Given the description of an element on the screen output the (x, y) to click on. 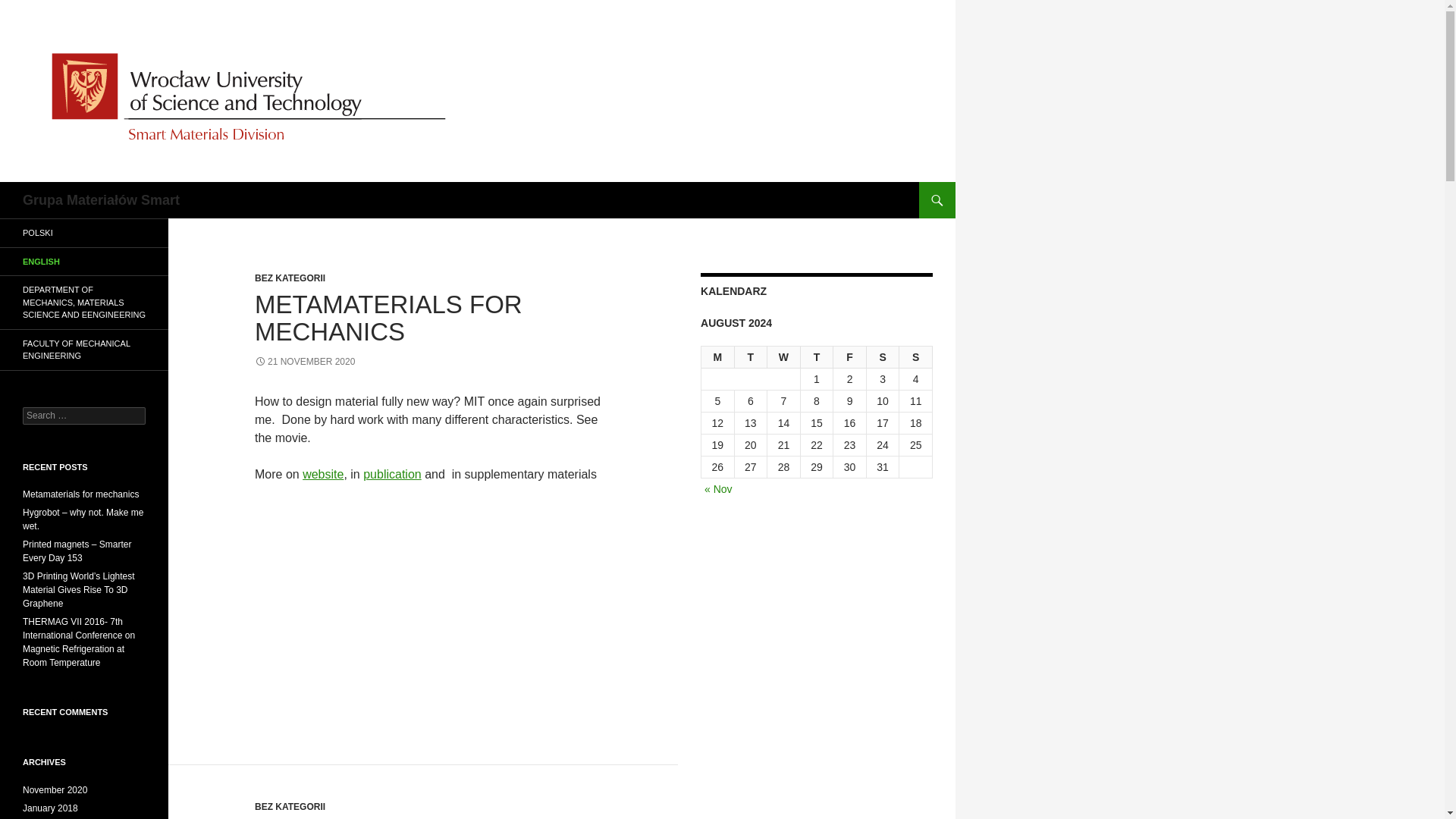
Wednesday (783, 357)
Tuesday (751, 357)
21 NOVEMBER 2020 (304, 361)
BEZ KATEGORII (289, 277)
Monday (718, 357)
Saturday (882, 357)
publication (392, 473)
Friday (849, 357)
website (322, 473)
Discretely Assembled Mechanical Metamaterials (434, 603)
BEZ KATEGORII (289, 806)
Thursday (817, 357)
METAMATERIALS FOR MECHANICS (388, 317)
Sunday (916, 357)
